Given the description of an element on the screen output the (x, y) to click on. 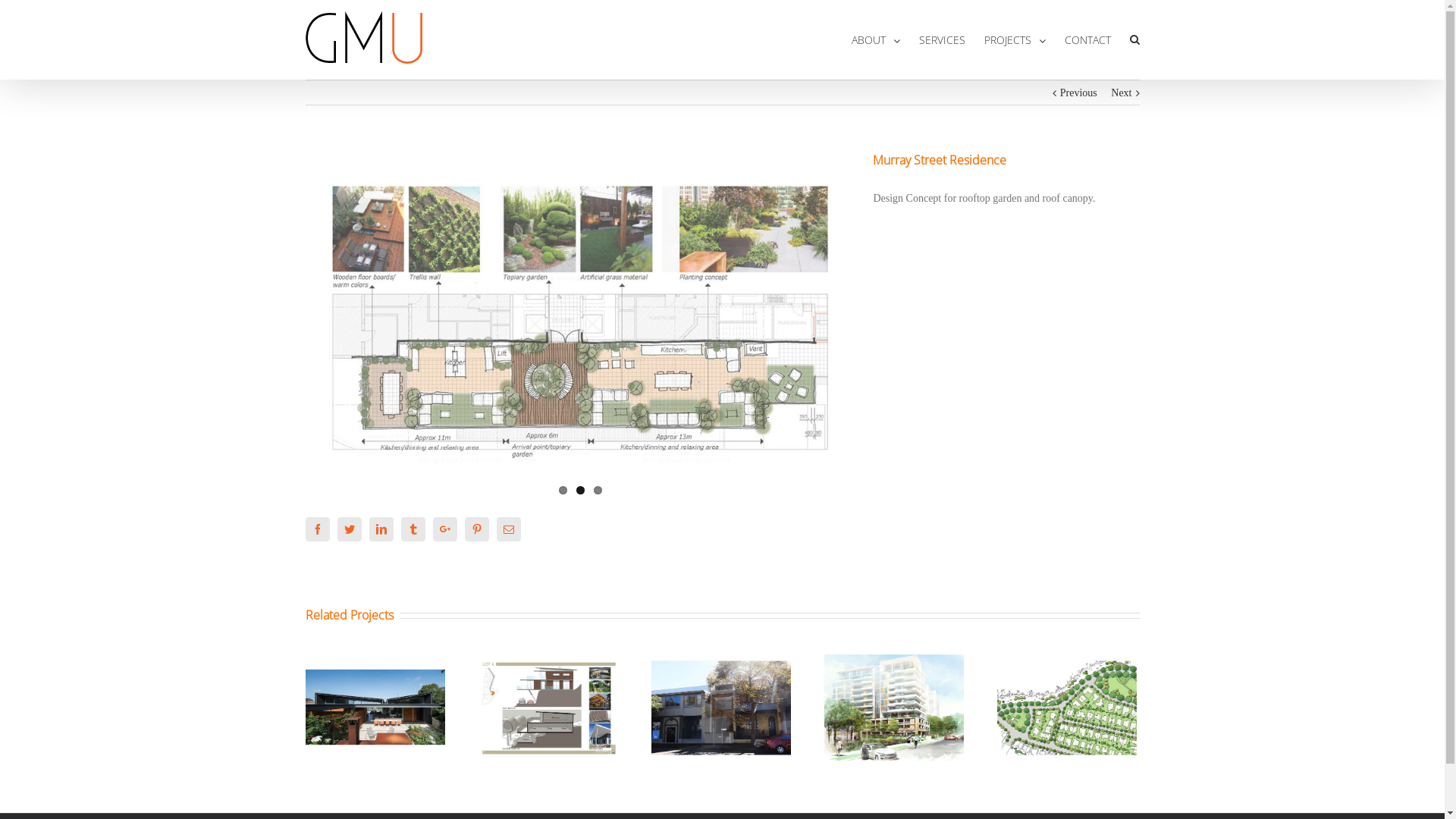
Tumblr Element type: text (412, 529)
Facebook Element type: text (316, 529)
3 Element type: text (597, 490)
Email Element type: text (507, 529)
SERVICES Element type: text (942, 39)
2 Element type: text (580, 490)
PROJECTS Element type: text (1014, 39)
Previous Element type: text (1078, 93)
CONTACT Element type: text (1087, 39)
Pinterest Element type: text (476, 529)
Twitter Element type: text (348, 529)
Googleplus Element type: text (444, 529)
1 Element type: text (562, 490)
Next Element type: text (1120, 93)
ABOUT Element type: text (874, 39)
Linkedin Element type: text (380, 529)
